Given the description of an element on the screen output the (x, y) to click on. 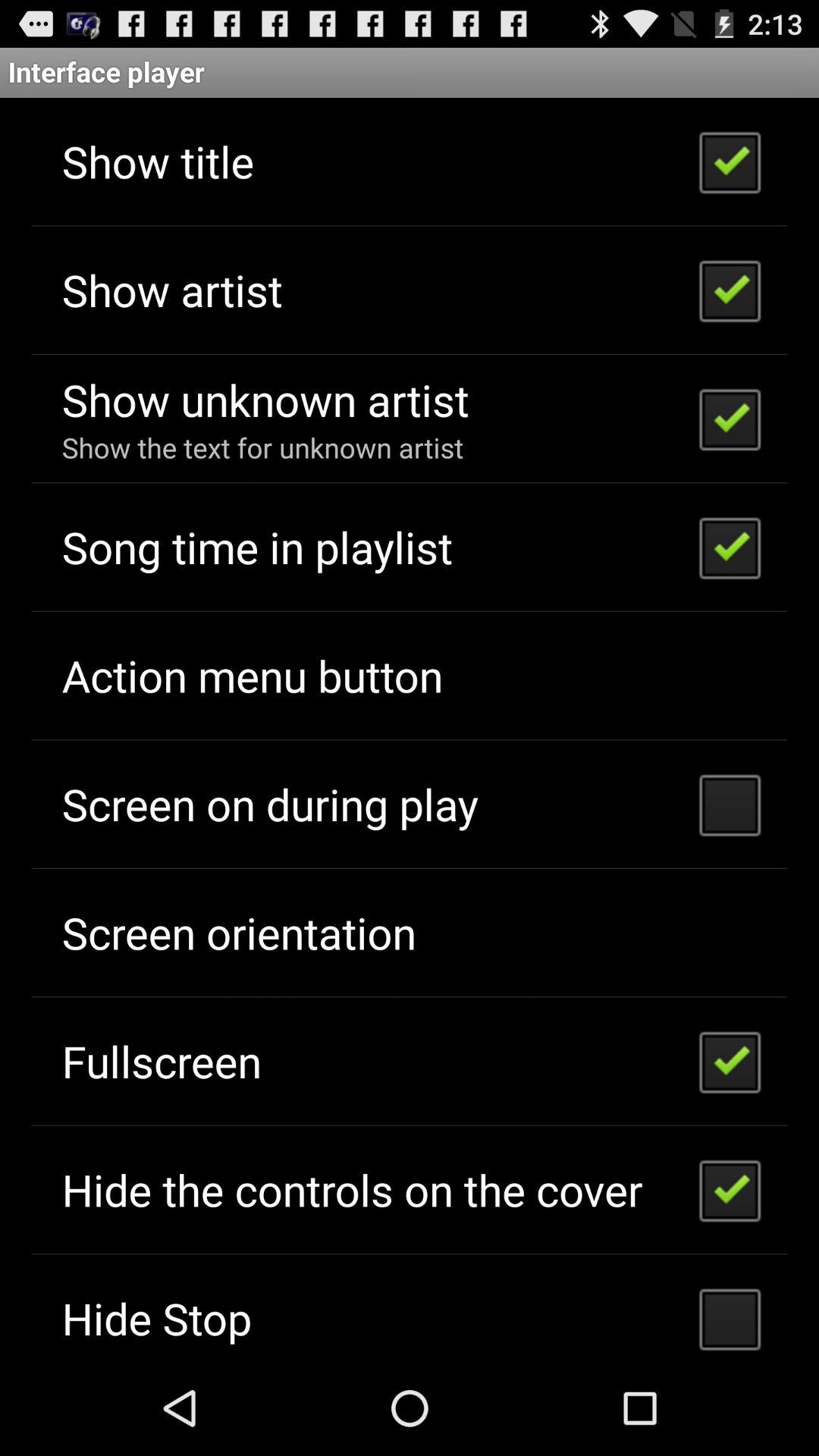
choose the screen orientation (238, 932)
